Given the description of an element on the screen output the (x, y) to click on. 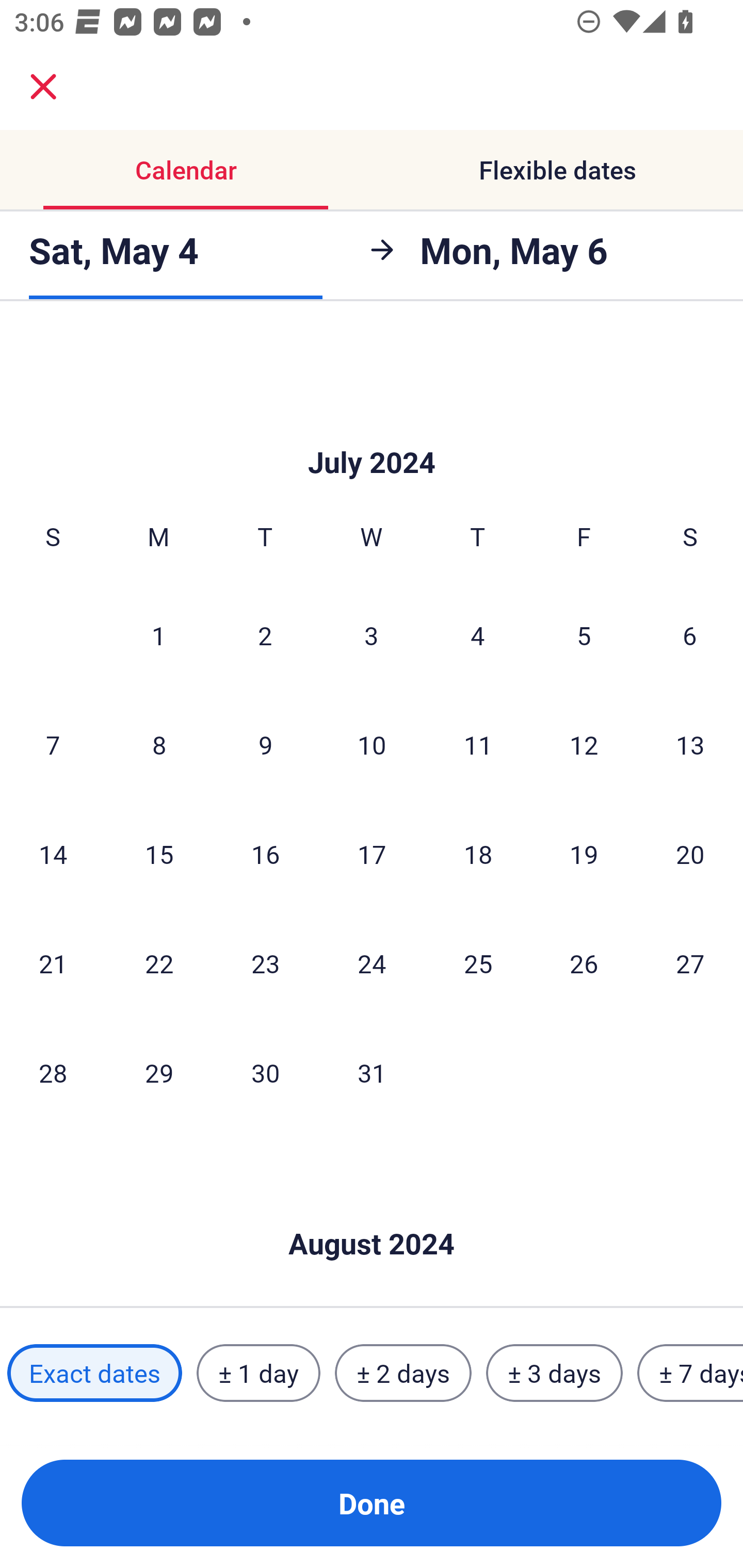
close. (43, 86)
Flexible dates (557, 170)
Skip to Done (371, 431)
1 Monday, July 1, 2024 (158, 634)
2 Tuesday, July 2, 2024 (264, 634)
3 Wednesday, July 3, 2024 (371, 634)
4 Thursday, July 4, 2024 (477, 634)
5 Friday, July 5, 2024 (583, 634)
6 Saturday, July 6, 2024 (689, 634)
7 Sunday, July 7, 2024 (53, 744)
8 Monday, July 8, 2024 (159, 744)
9 Tuesday, July 9, 2024 (265, 744)
10 Wednesday, July 10, 2024 (371, 744)
11 Thursday, July 11, 2024 (477, 744)
12 Friday, July 12, 2024 (584, 744)
13 Saturday, July 13, 2024 (690, 744)
14 Sunday, July 14, 2024 (53, 853)
15 Monday, July 15, 2024 (159, 853)
16 Tuesday, July 16, 2024 (265, 853)
17 Wednesday, July 17, 2024 (371, 853)
18 Thursday, July 18, 2024 (477, 853)
19 Friday, July 19, 2024 (584, 853)
20 Saturday, July 20, 2024 (690, 853)
21 Sunday, July 21, 2024 (53, 963)
22 Monday, July 22, 2024 (159, 963)
23 Tuesday, July 23, 2024 (265, 963)
24 Wednesday, July 24, 2024 (371, 963)
25 Thursday, July 25, 2024 (477, 963)
26 Friday, July 26, 2024 (584, 963)
27 Saturday, July 27, 2024 (690, 963)
28 Sunday, July 28, 2024 (53, 1072)
29 Monday, July 29, 2024 (159, 1072)
30 Tuesday, July 30, 2024 (265, 1072)
31 Wednesday, July 31, 2024 (371, 1072)
Skip to Done (371, 1212)
Exact dates (94, 1372)
± 1 day (258, 1372)
± 2 days (403, 1372)
± 3 days (553, 1372)
± 7 days (690, 1372)
Done (371, 1502)
